Given the description of an element on the screen output the (x, y) to click on. 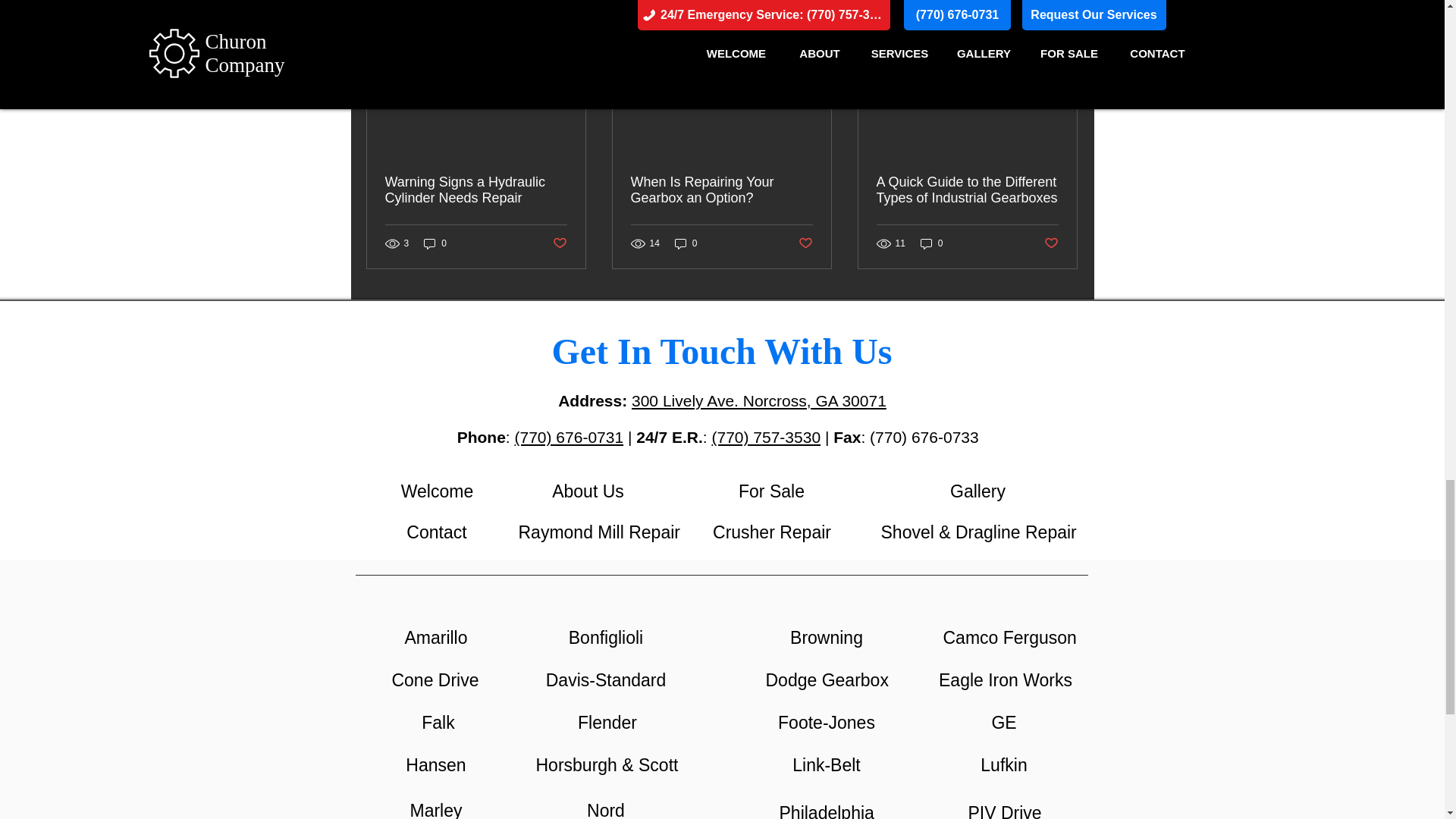
Address: (594, 400)
0 (435, 243)
When Is Repairing Your Gearbox an Option? (721, 190)
0 (685, 243)
Post not marked as liked (804, 242)
Warning Signs a Hydraulic Cylinder Needs Repair (476, 190)
0 (931, 243)
Post not marked as liked (1050, 242)
Post not marked as liked (558, 242)
A Quick Guide to the Different Types of Industrial Gearboxes (967, 190)
See All (1061, 8)
